Given the description of an element on the screen output the (x, y) to click on. 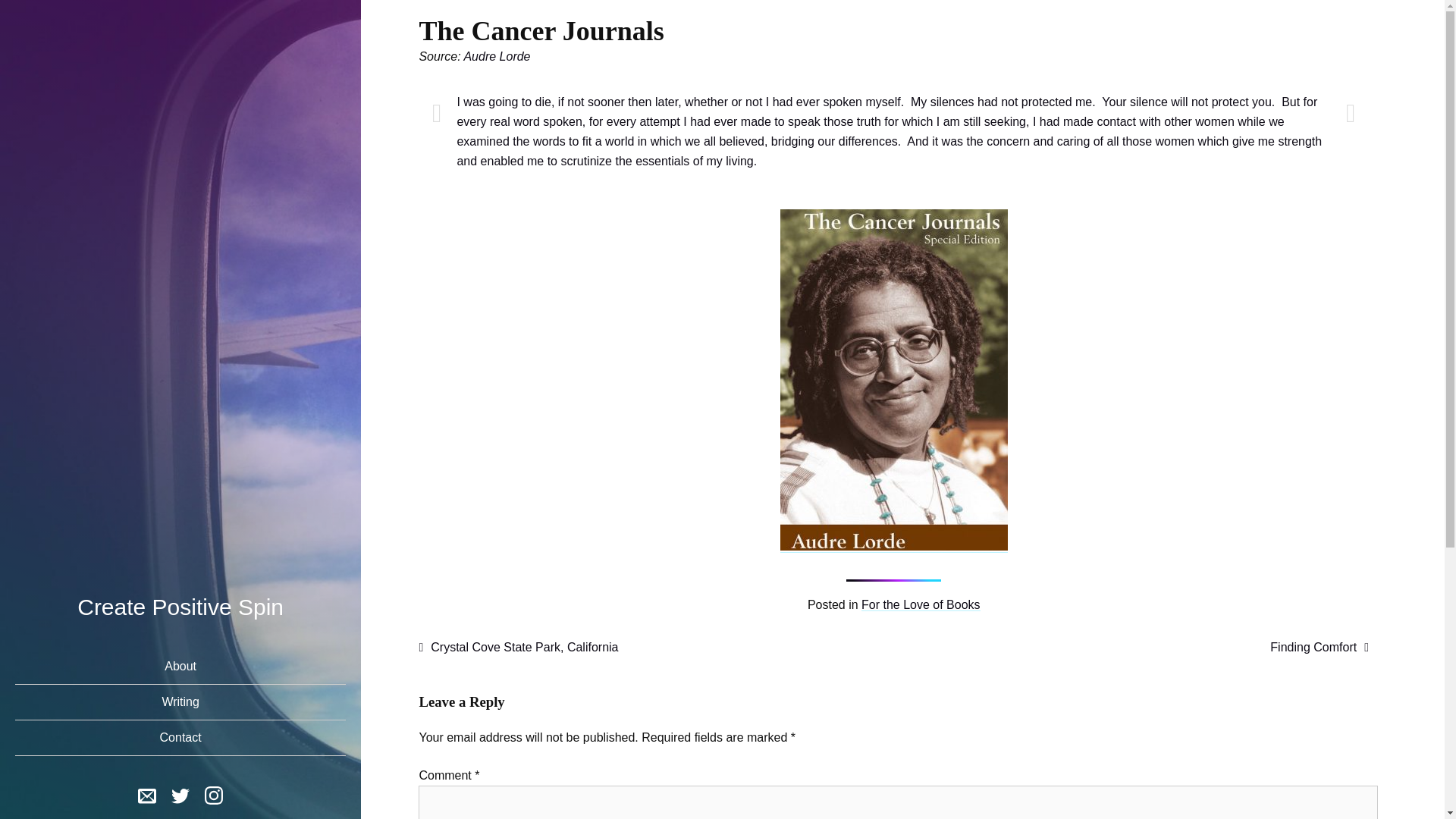
instagram (213, 794)
Finding Comfort (1318, 646)
Create Positive Spin (180, 606)
Writing (180, 701)
Contact (180, 737)
Audre Lorde (496, 56)
For the Love of Books (920, 604)
twitter (180, 798)
About (180, 666)
Crystal Cove State Park, California (518, 646)
twitter (180, 794)
instagram (213, 798)
